Given the description of an element on the screen output the (x, y) to click on. 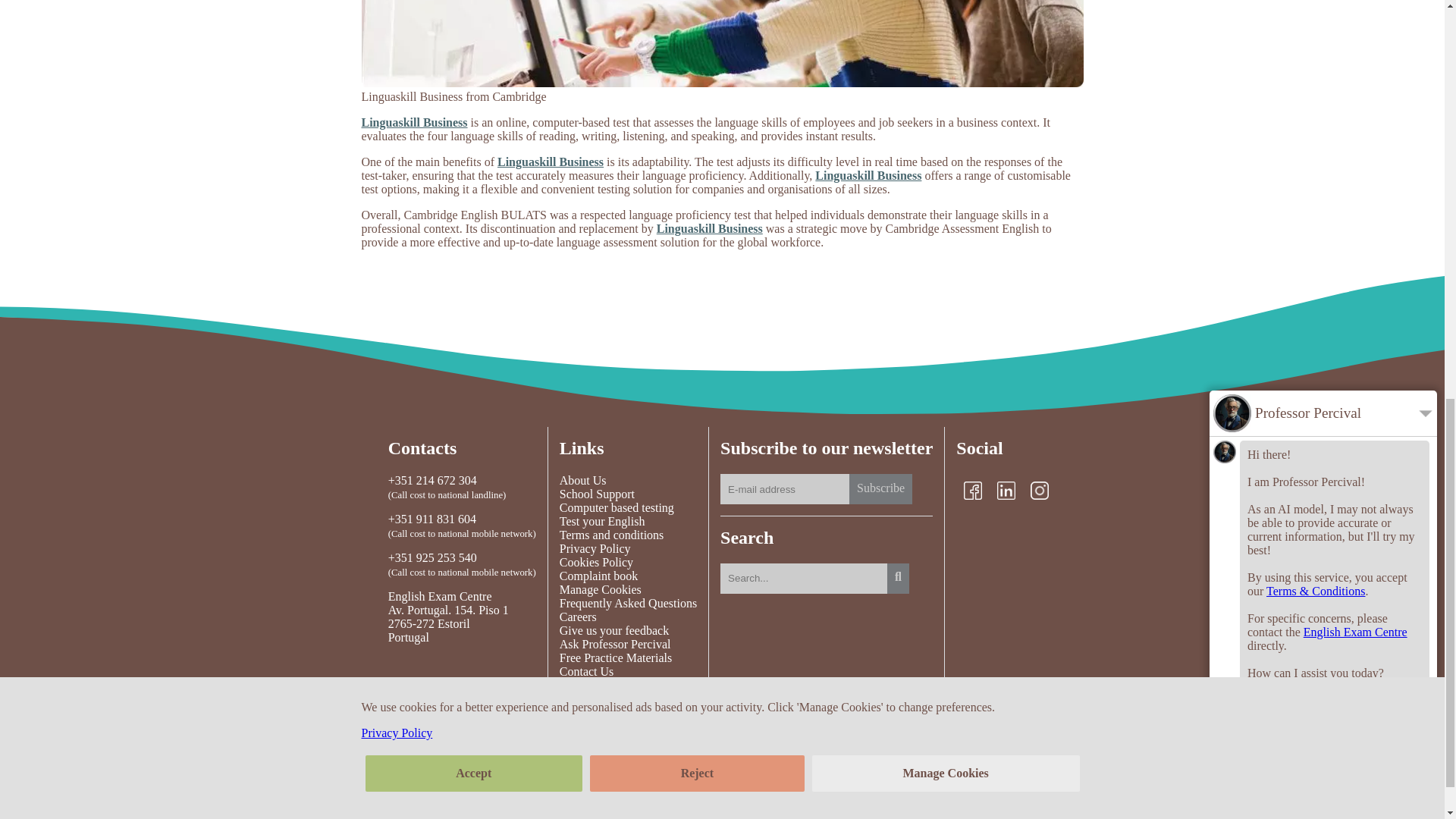
Linguaskill Business (709, 228)
Link to English Exam Centre's page on Facebook (972, 490)
Test your English (628, 521)
Linguaskill Business (868, 174)
School Support (628, 494)
Link to English Exam Centre's feed on Instagram (1039, 490)
About Us (628, 480)
Linguaskill Business (414, 122)
Linguaskill Business (550, 161)
Computer based testing (628, 508)
Link to English Exam Centre's page on LinkedIn (1005, 490)
